Given the description of an element on the screen output the (x, y) to click on. 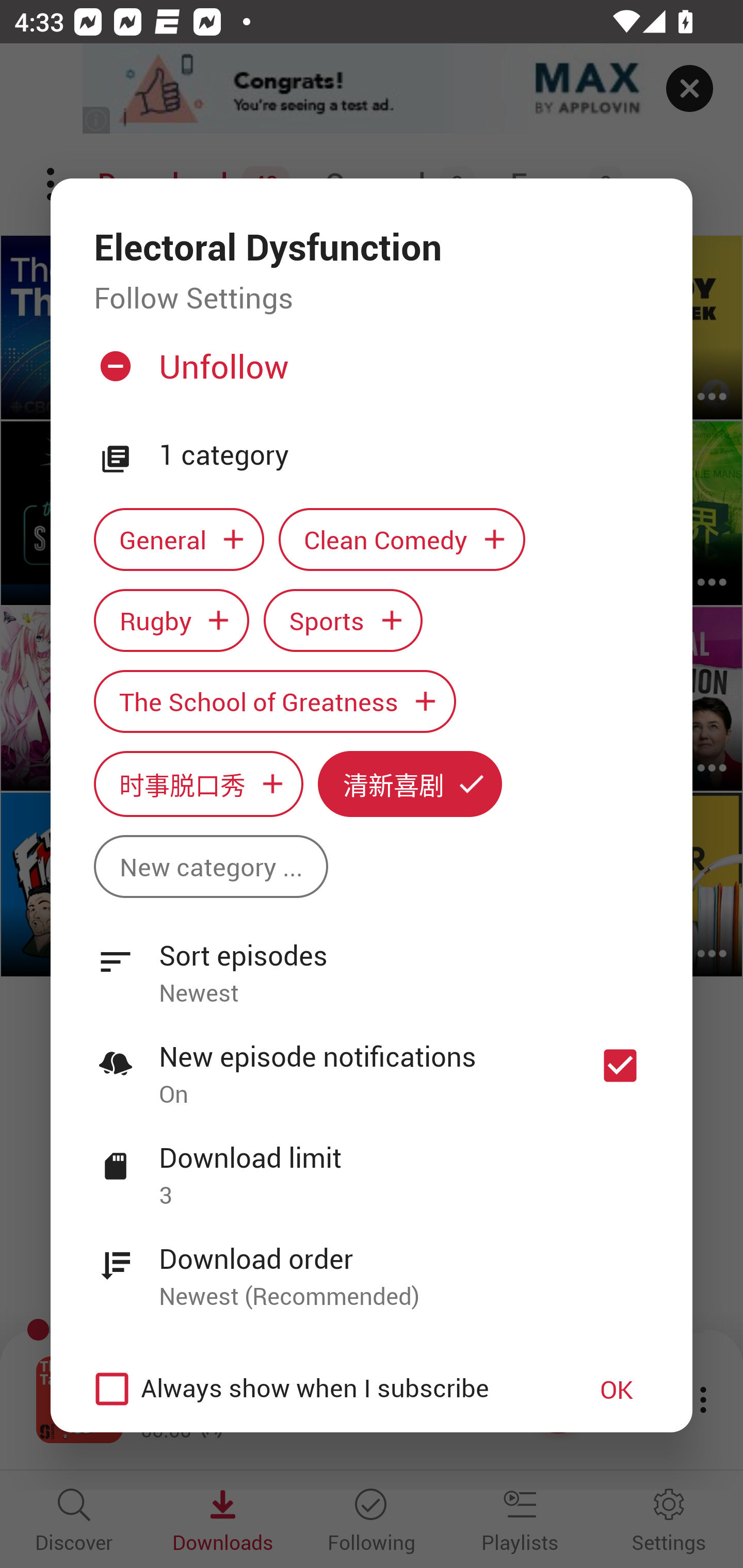
Unfollow (369, 374)
1 category (404, 455)
General (178, 539)
Clean Comedy (401, 539)
Rugby (170, 620)
Sports (342, 620)
The School of Greatness (274, 700)
时事脱口秀 (198, 783)
清新喜剧 (410, 783)
New category ... (210, 866)
Sort episodes Newest (371, 962)
New episode notifications (620, 1065)
Download limit 3 (371, 1164)
Download order Newest (Recommended) (371, 1266)
OK (616, 1388)
Always show when I subscribe (320, 1388)
